Given the description of an element on the screen output the (x, y) to click on. 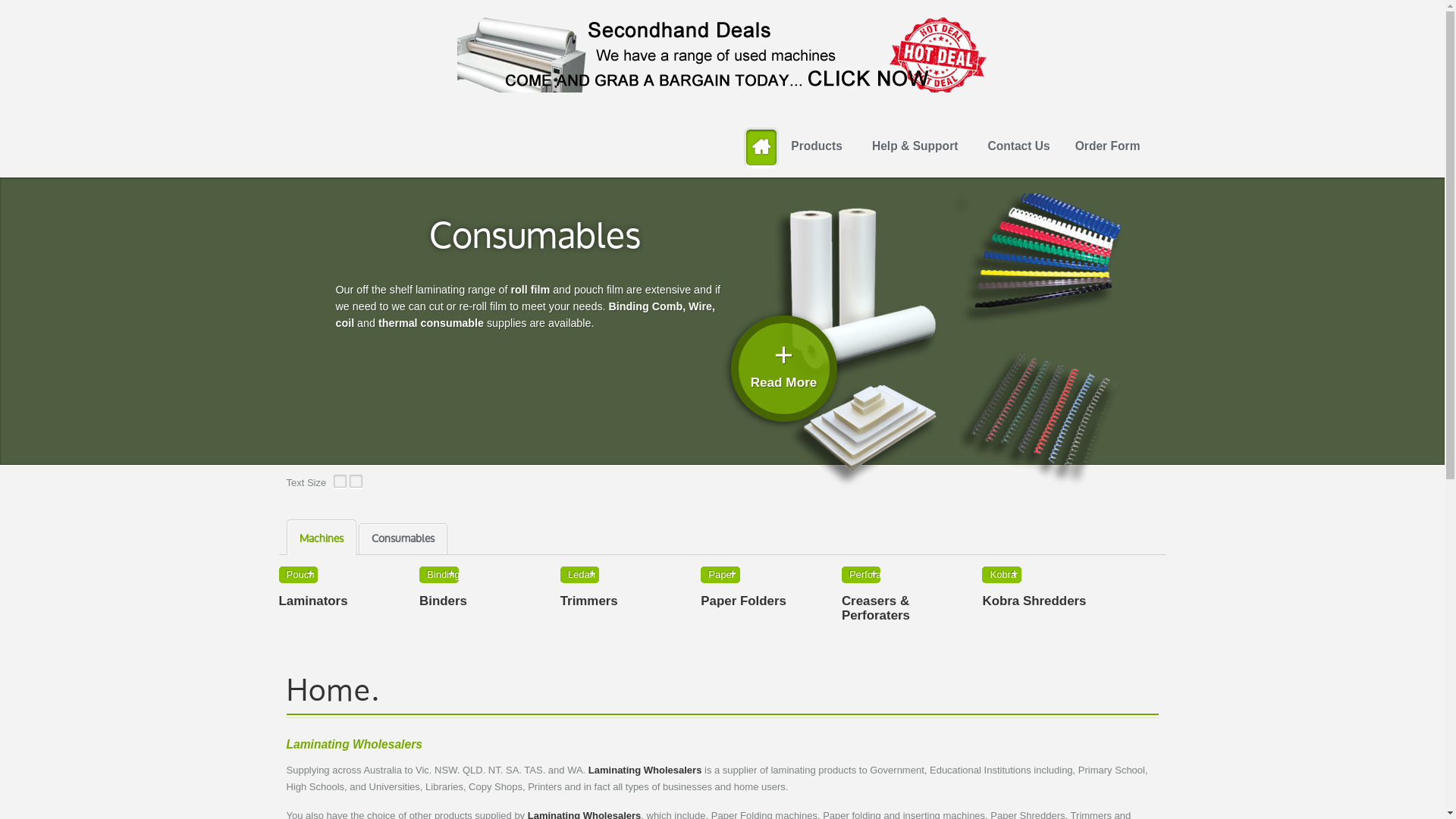
Contact Us Element type: text (1018, 146)
+
Read More Element type: text (784, 368)
Laminating Wholesalers Element type: text (354, 743)
A3 Card Creasing Machine, A3 Card Perforating Machine
+ Element type: text (860, 574)
Wire, Coil, Comb Binding Machines
+ Element type: text (438, 574)
Royal Sovereign and Ledah Trimmers
+ Element type: text (579, 574)
LW-42F A3 Paper Folder, LW-45F Auto A3 Paper Folder
+ Element type: text (719, 574)
Kobra Shredders
+ Element type: text (1001, 574)
Consumables Element type: text (534, 237)
Increase Text Size Element type: hover (355, 484)
Roll, Cello, Cold film, Pouch laminators
+ Element type: text (298, 574)
Decrease Text Size Element type: hover (339, 484)
Order Form Element type: text (1107, 146)
Secondhand Machines Element type: hover (721, 54)
